Given the description of an element on the screen output the (x, y) to click on. 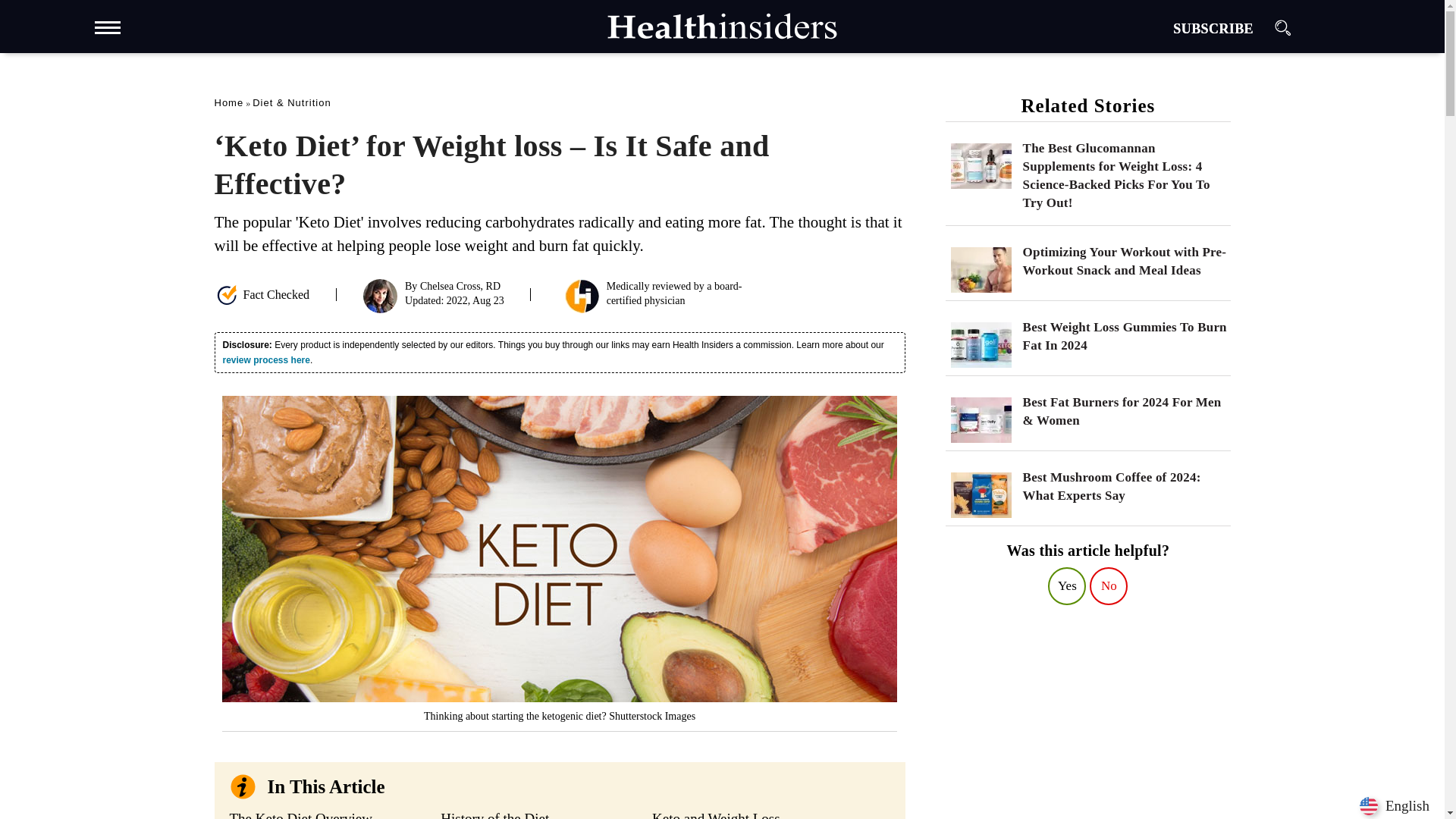
SUBSCRIBE (1213, 28)
Fact Checked (261, 295)
Home (228, 102)
